Given the description of an element on the screen output the (x, y) to click on. 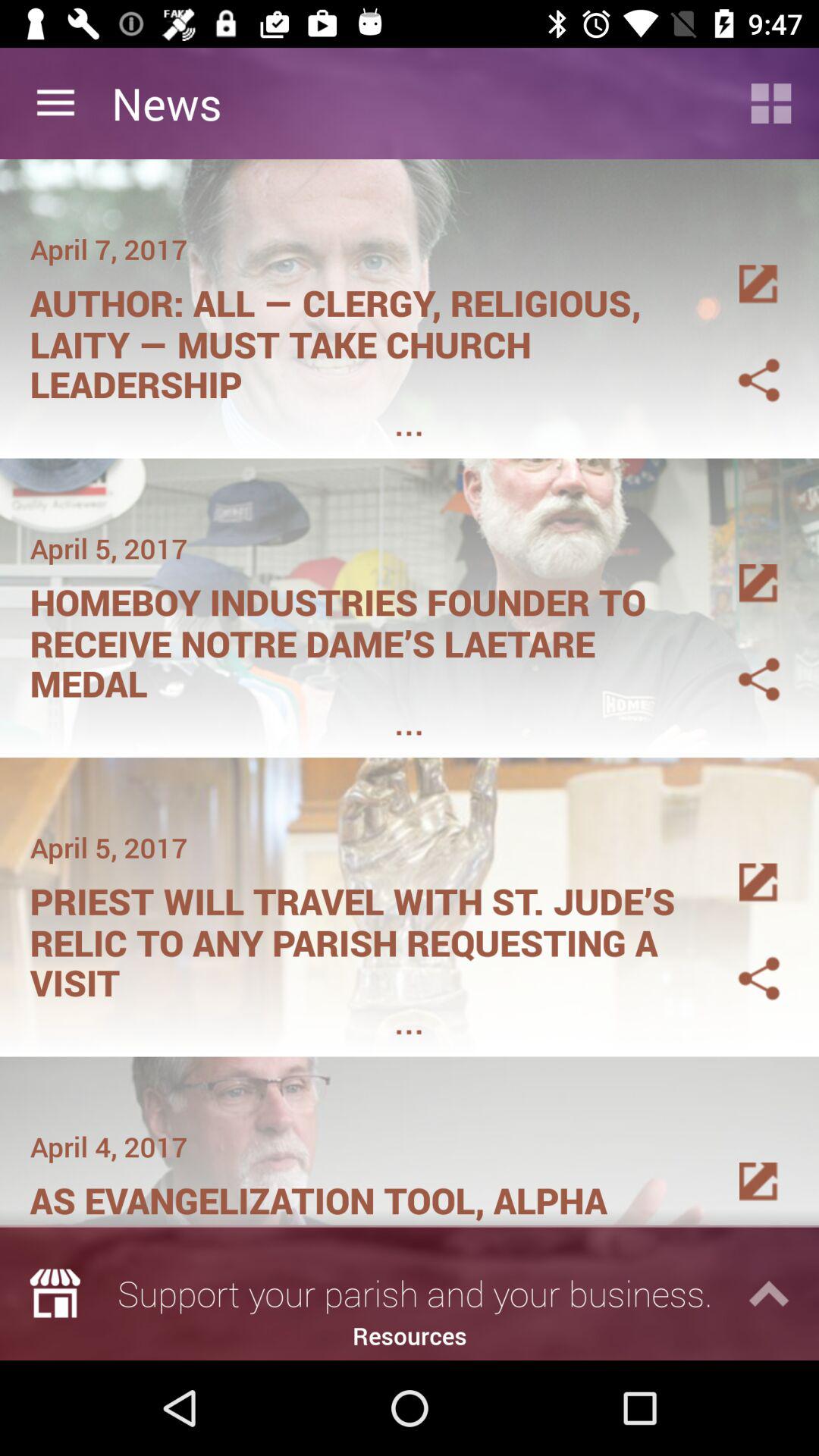
press the item below april 5, 2017 item (361, 937)
